Given the description of an element on the screen output the (x, y) to click on. 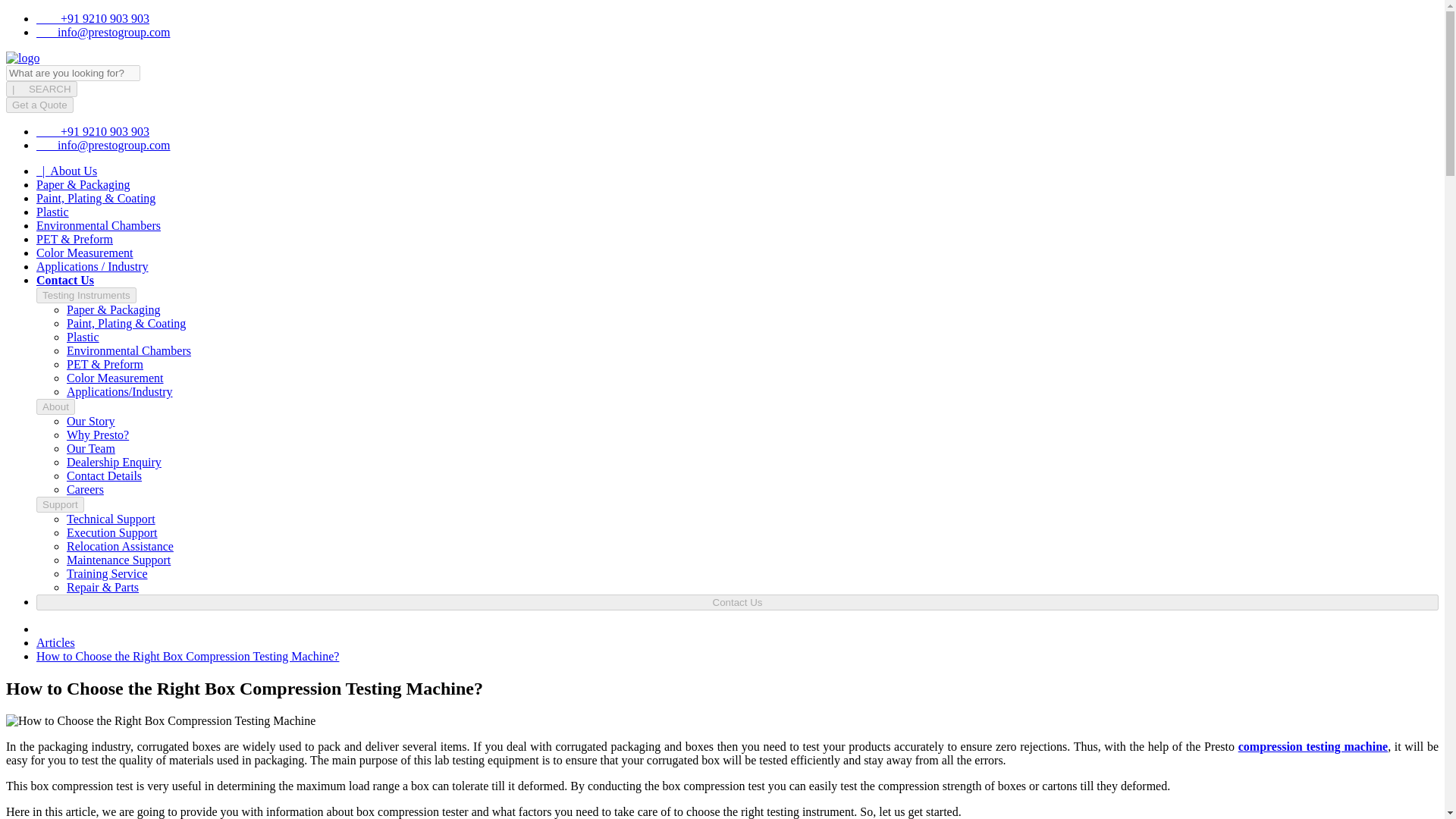
Dealership Enquiry (113, 461)
Our Story (90, 420)
Contact Us (65, 279)
Our Team (90, 448)
Plastic (52, 211)
Support (60, 504)
Careers (84, 489)
Get a Quote (39, 105)
Why Presto? (97, 434)
Contact Details (103, 475)
Maintenance Support (118, 559)
Plastic (82, 336)
Environmental Chambers (128, 350)
Training Service (107, 573)
About (55, 406)
